Given the description of an element on the screen output the (x, y) to click on. 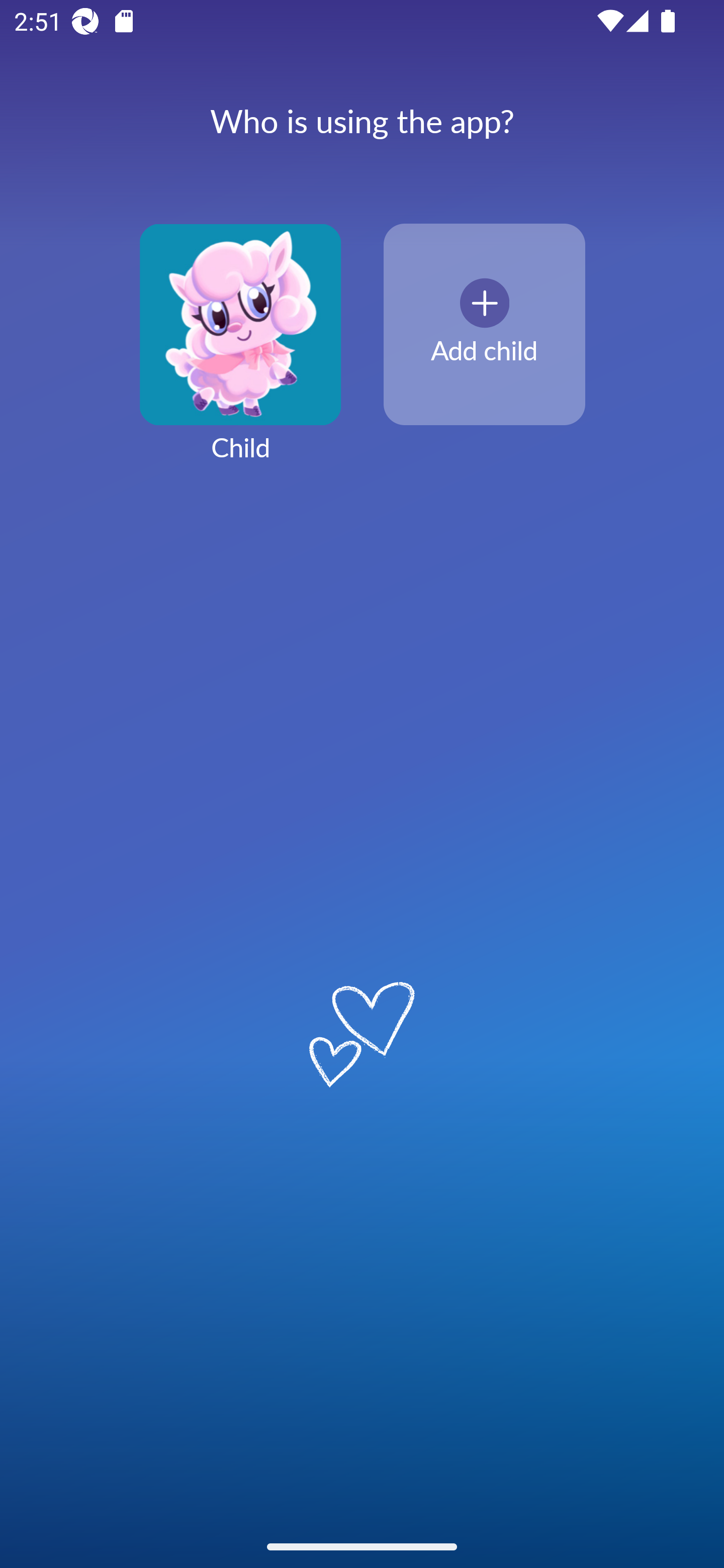
Child (240, 354)
Add child (483, 324)
